Given the description of an element on the screen output the (x, y) to click on. 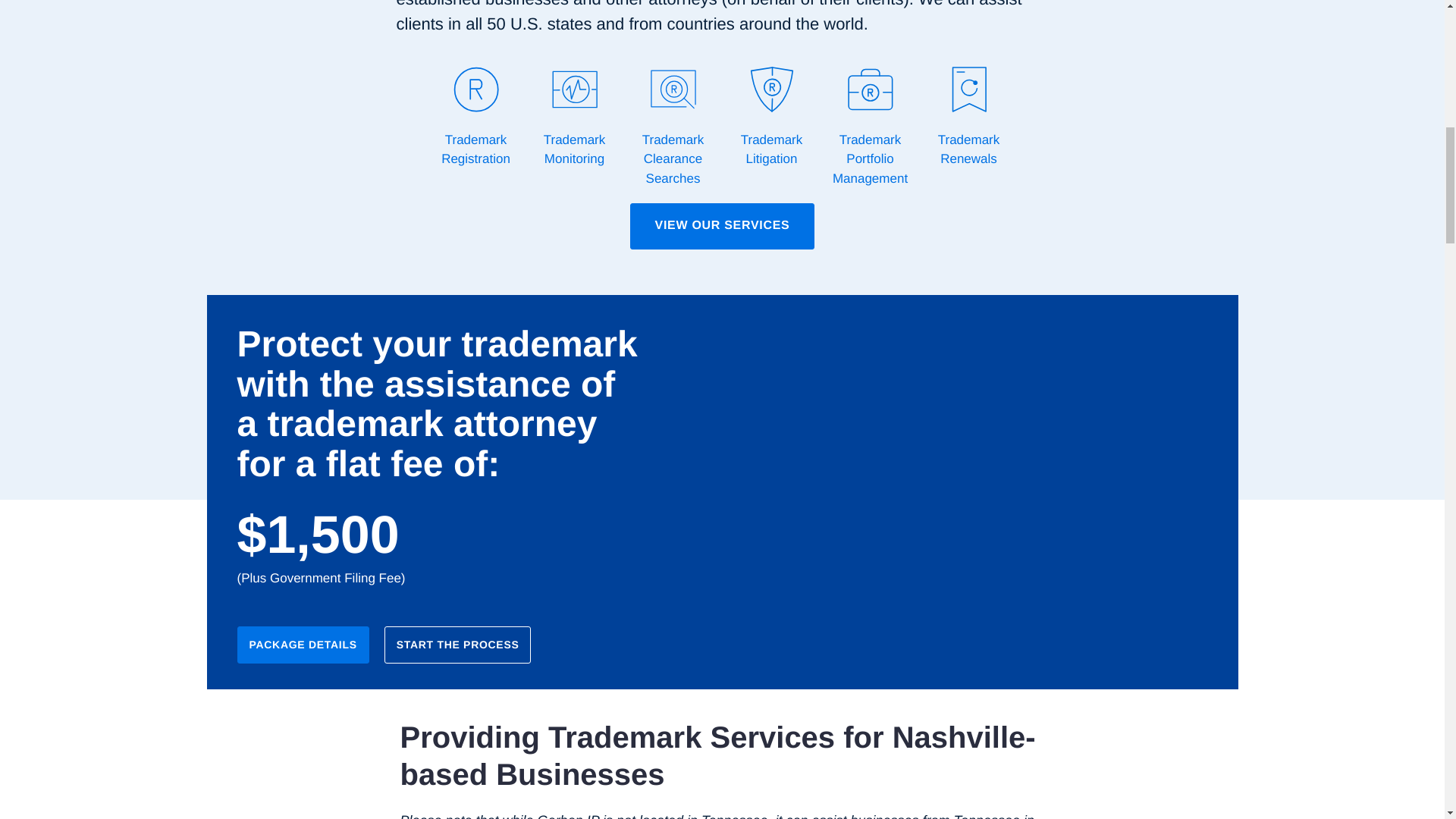
Trademark Monitoring (573, 117)
Trademark Renewals (967, 117)
VIEW OUR SERVICES (722, 225)
Trademark Registration (475, 117)
START THE PROCESS (457, 645)
PACKAGE DETAILS (301, 645)
Trademark Renewals (967, 117)
Trademark Monitoring (573, 117)
Start Protecting Your Trademark (835, 579)
Trademark Litigation (771, 117)
Trademark Litigation (771, 117)
Trademark Registration (475, 117)
